Given the description of an element on the screen output the (x, y) to click on. 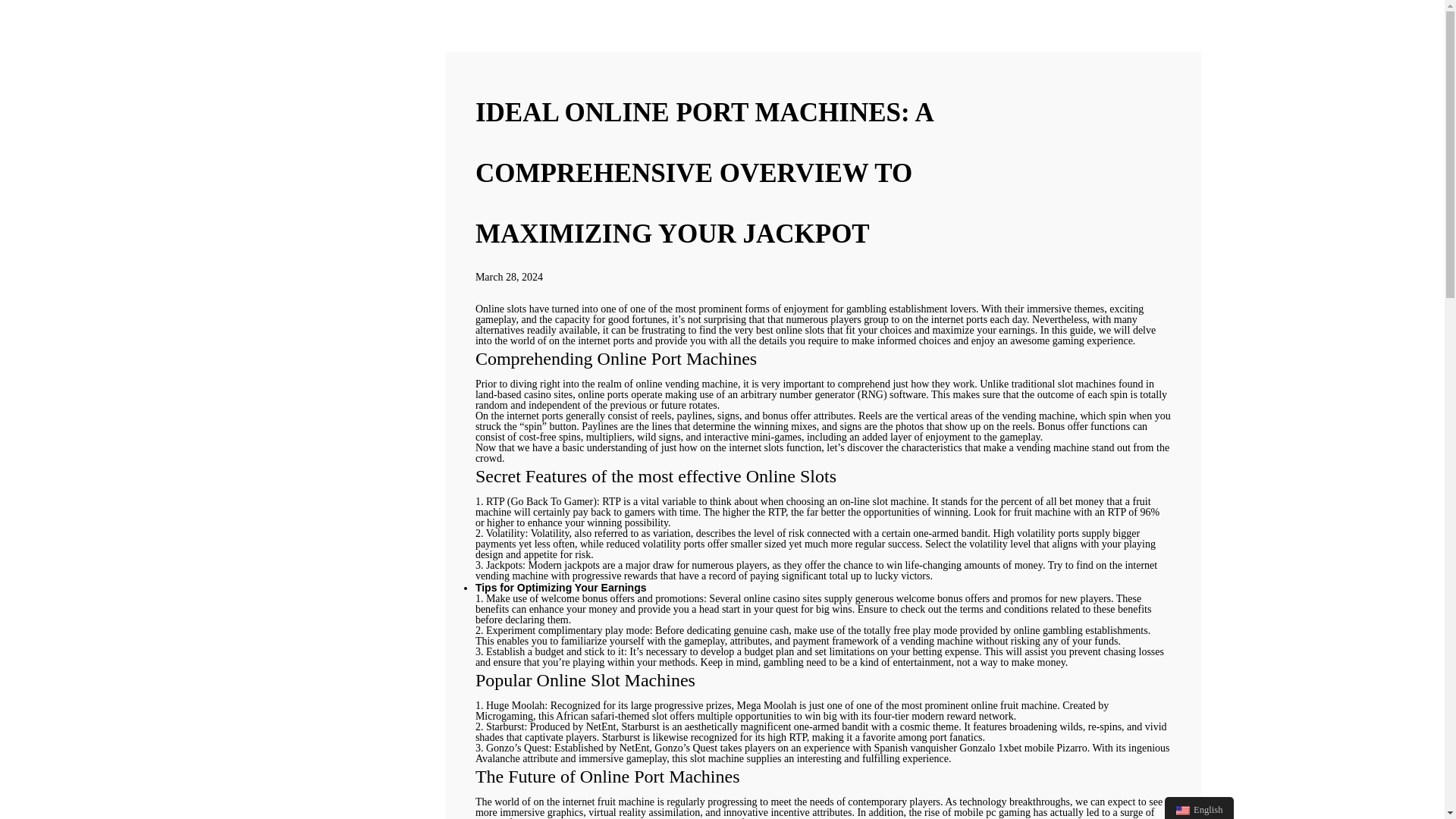
ABOUT (101, 247)
HOME (101, 210)
SERVICES (101, 284)
English (1182, 809)
CONTACT (101, 320)
March 28, 2024 (509, 276)
1xbet mobile (1025, 747)
English (1198, 807)
